Given the description of an element on the screen output the (x, y) to click on. 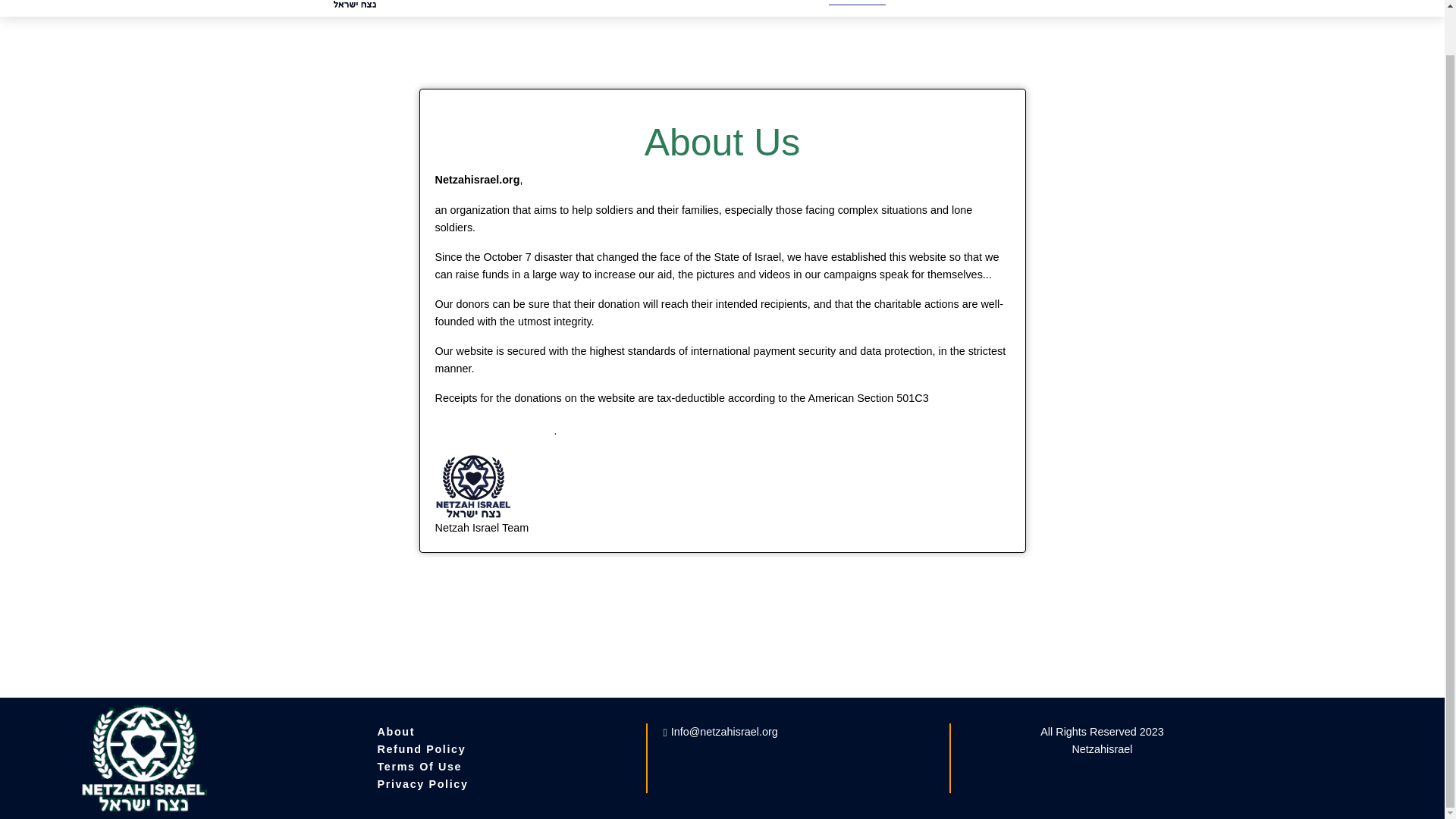
About (395, 731)
CONTACT (937, 2)
Refund Policy (421, 748)
Privacy Policy (422, 784)
contact us here (494, 429)
SIGN UP (1021, 2)
Terms Of Use (419, 766)
ABOUT (856, 2)
